Given the description of an element on the screen output the (x, y) to click on. 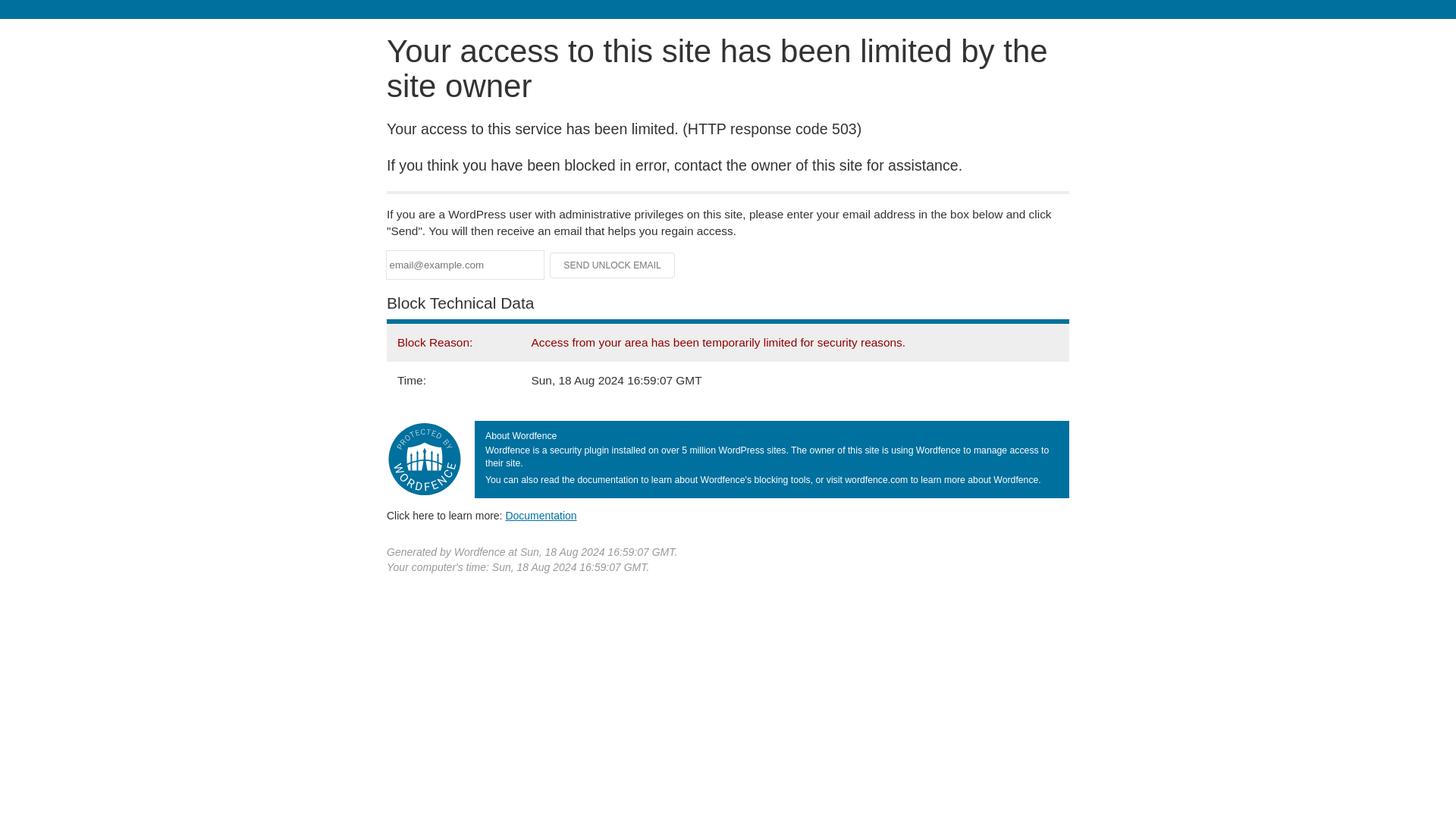
Documentation (540, 515)
Send Unlock Email (612, 265)
Send Unlock Email (612, 265)
